Given the description of an element on the screen output the (x, y) to click on. 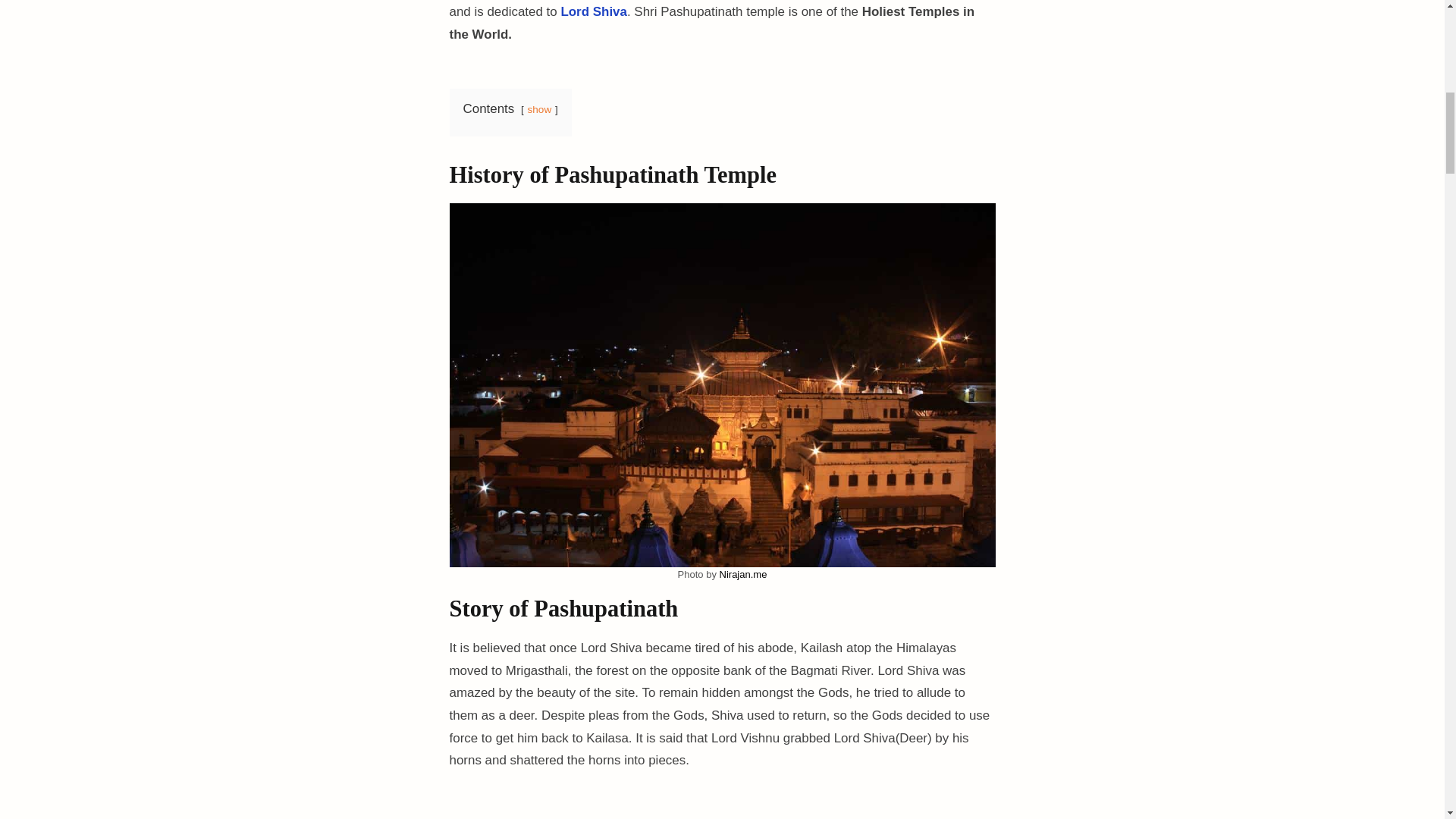
show (539, 109)
Back to top (1412, 28)
Lord Shiva (593, 11)
